Given the description of an element on the screen output the (x, y) to click on. 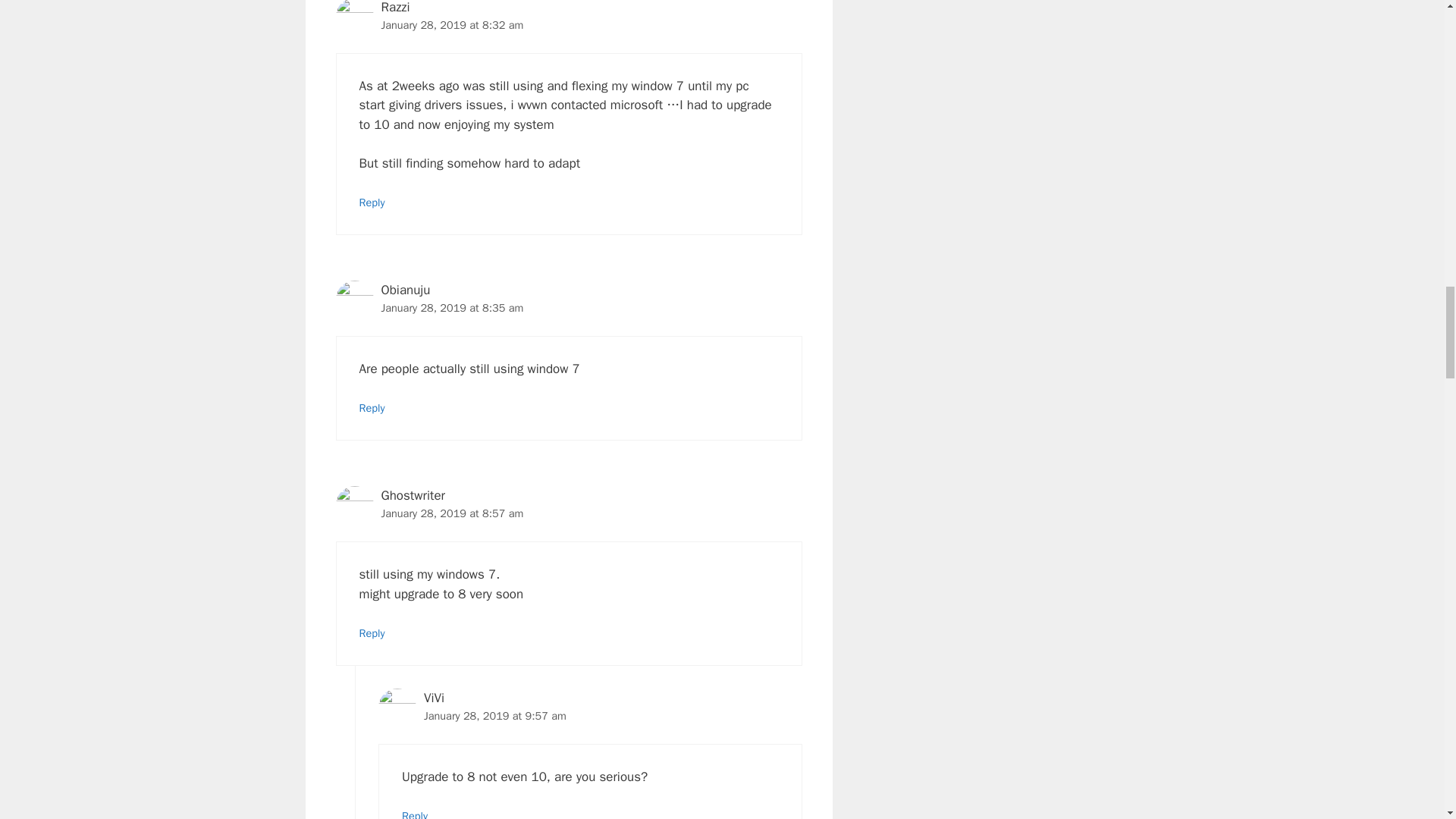
January 28, 2019 at 8:35 am (451, 307)
January 28, 2019 at 8:32 am (451, 24)
Reply (414, 814)
January 28, 2019 at 8:57 am (451, 513)
January 28, 2019 at 9:57 am (494, 715)
Reply (372, 202)
Reply (372, 407)
Reply (372, 632)
